Given the description of an element on the screen output the (x, y) to click on. 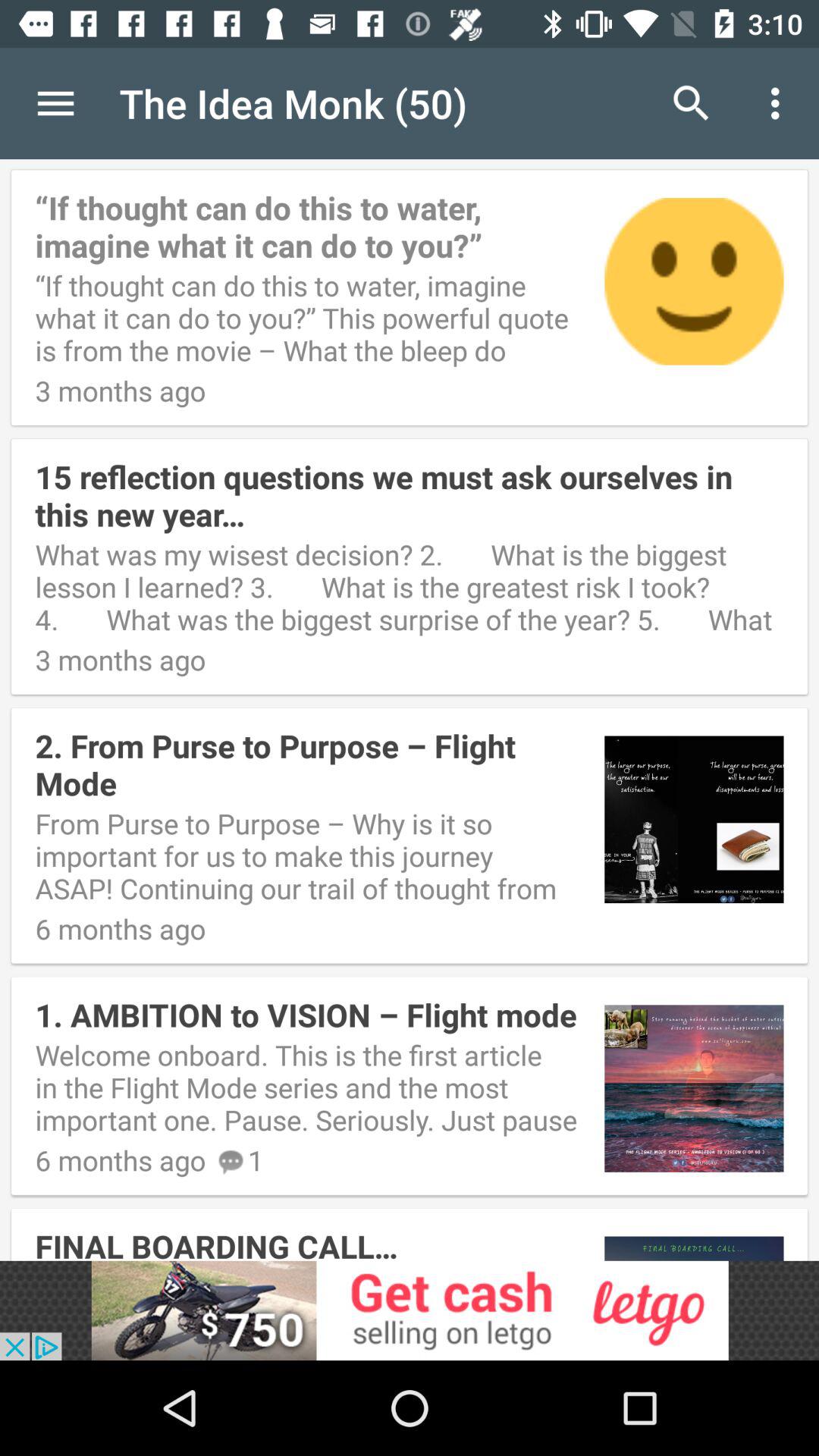
details about advertisement (409, 1310)
